Given the description of an element on the screen output the (x, y) to click on. 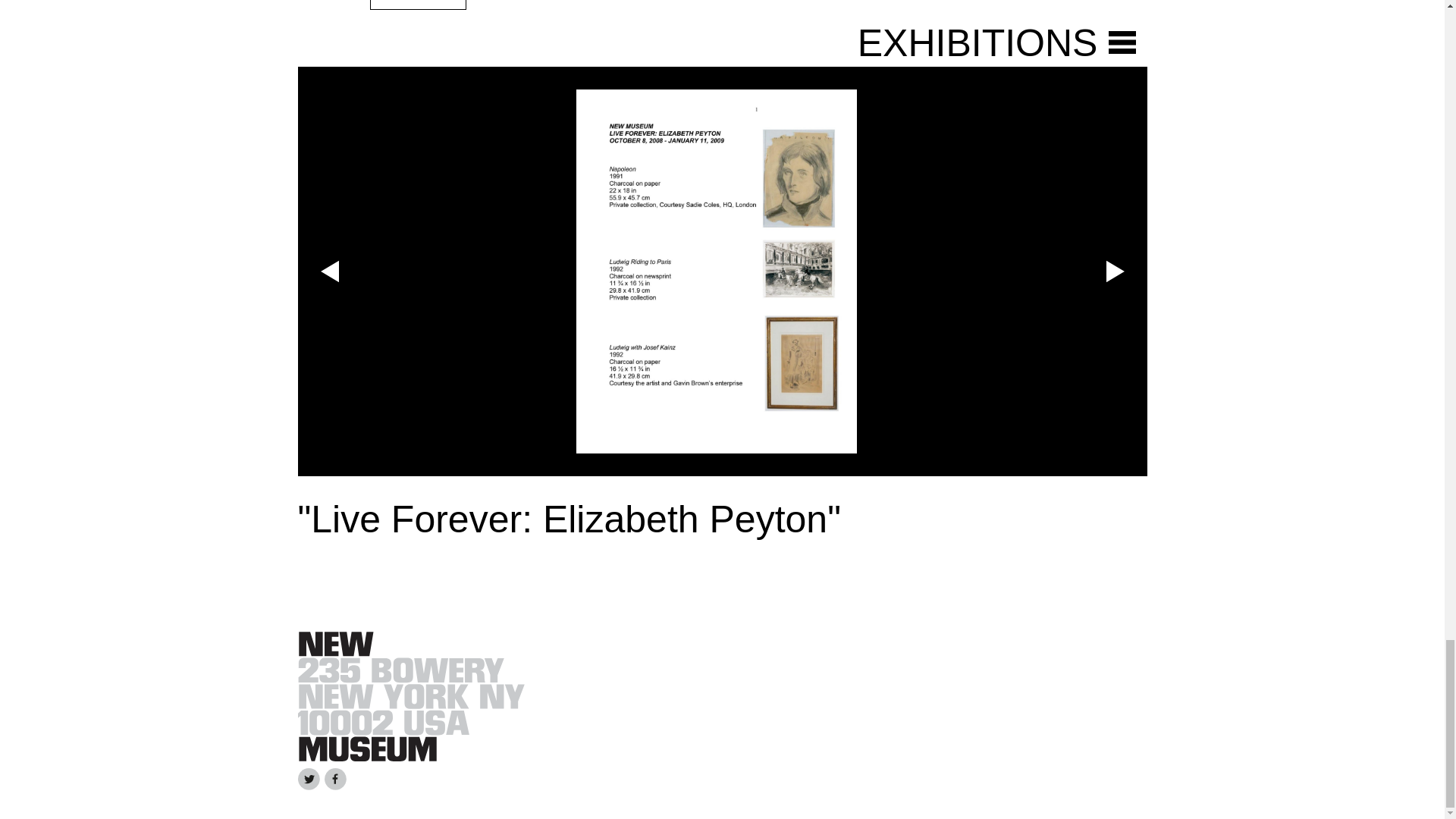
"Live Forever: Elizabeth Peyton" (568, 518)
